Given the description of an element on the screen output the (x, y) to click on. 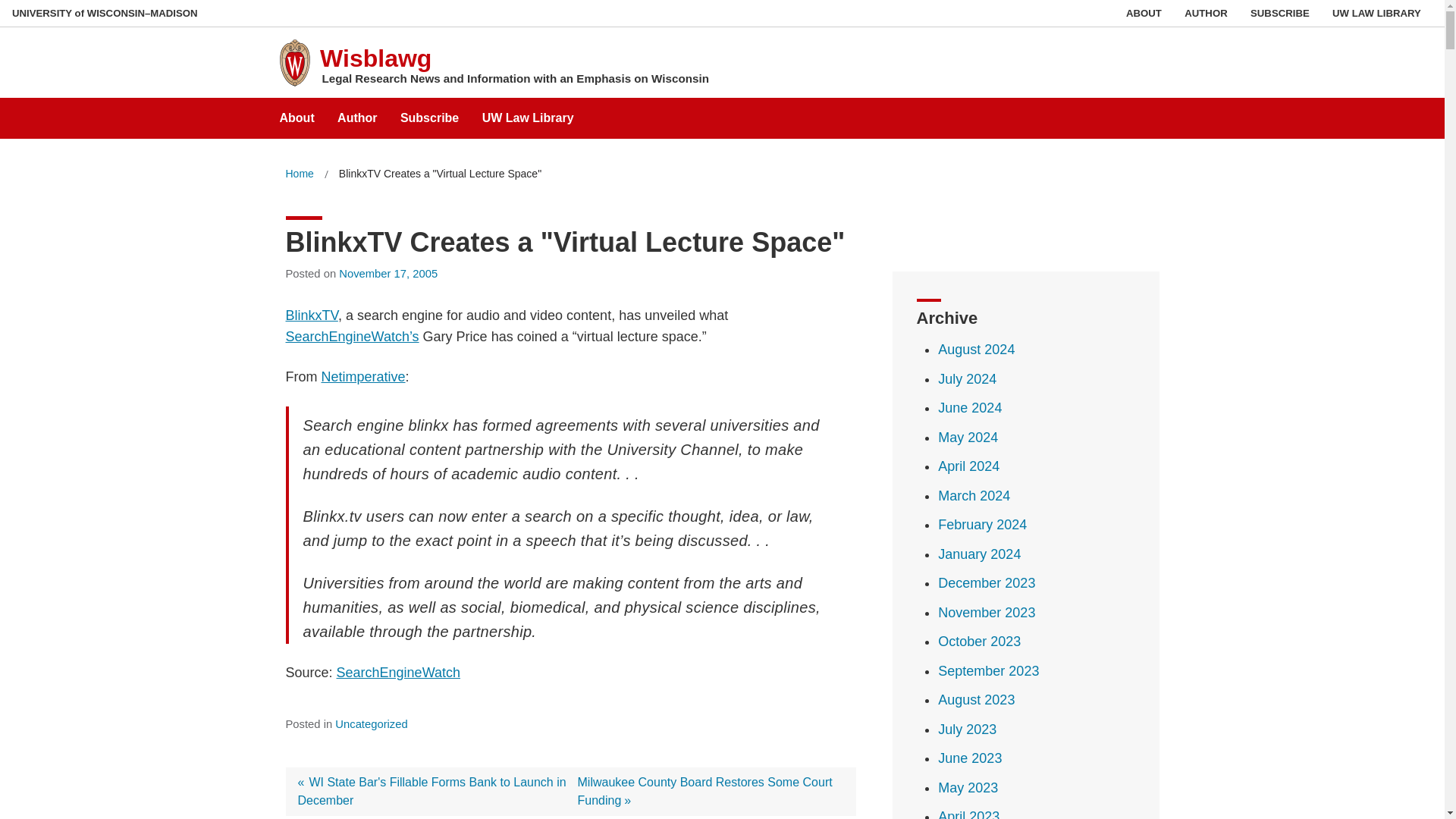
Home (299, 173)
April 2023 (967, 814)
Subscribe (429, 112)
November 17, 2005 (388, 273)
August 2023 (975, 699)
About (296, 112)
Netimperative (363, 376)
BlinkxTV (311, 314)
Skip to main content (3, 3)
May 2024 (967, 437)
BlinkxTV Creates a "Virtual Lecture Space" (440, 173)
ABOUT (1143, 13)
UW LAW LIBRARY (1376, 13)
SUBSCRIBE (1279, 13)
March 2024 (973, 495)
